Given the description of an element on the screen output the (x, y) to click on. 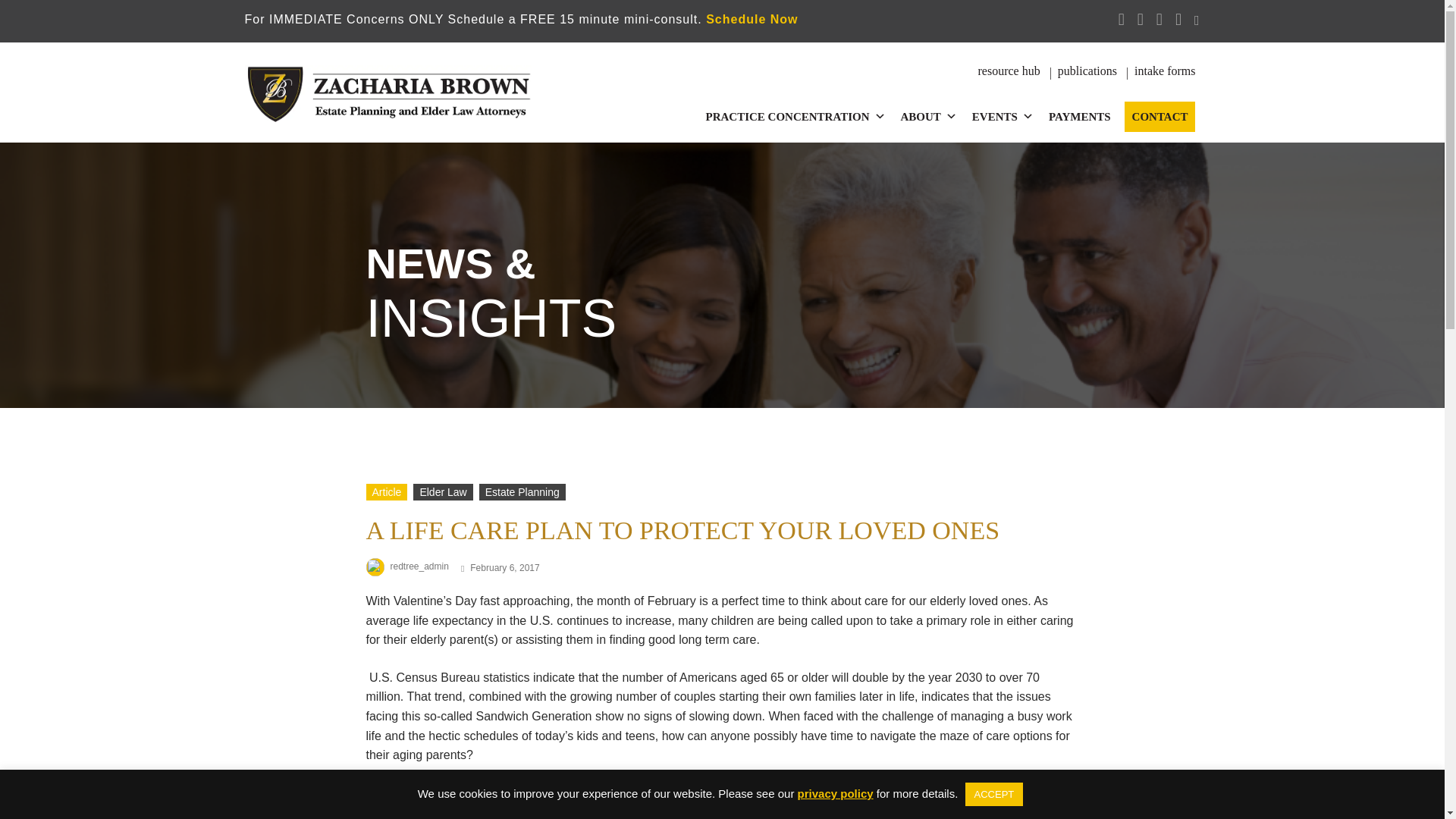
resource hub (1009, 70)
intake forms (1164, 70)
publications (1087, 70)
PRACTICE CONCENTRATION (795, 116)
Schedule Now (751, 19)
